Given the description of an element on the screen output the (x, y) to click on. 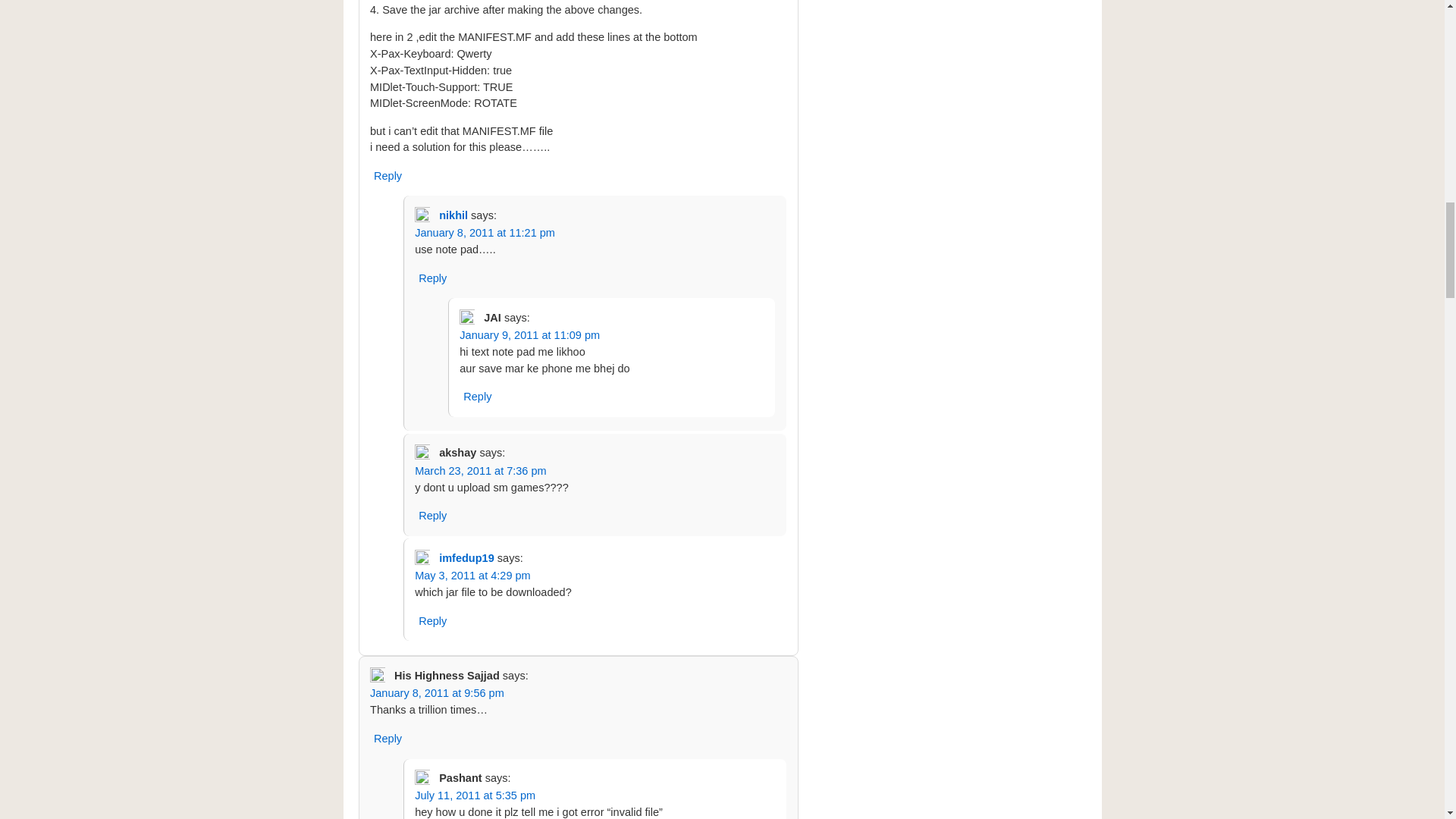
January 9, 2011 at 11:09 pm (529, 335)
January 8, 2011 at 11:21 pm (484, 232)
Reply (387, 738)
Reply (387, 175)
nikhil (453, 215)
May 3, 2011 at 4:29 pm (472, 575)
July 11, 2011 at 5:35 pm (474, 795)
Reply (431, 620)
January 8, 2011 at 9:56 pm (436, 693)
imfedup19 (467, 558)
